Given the description of an element on the screen output the (x, y) to click on. 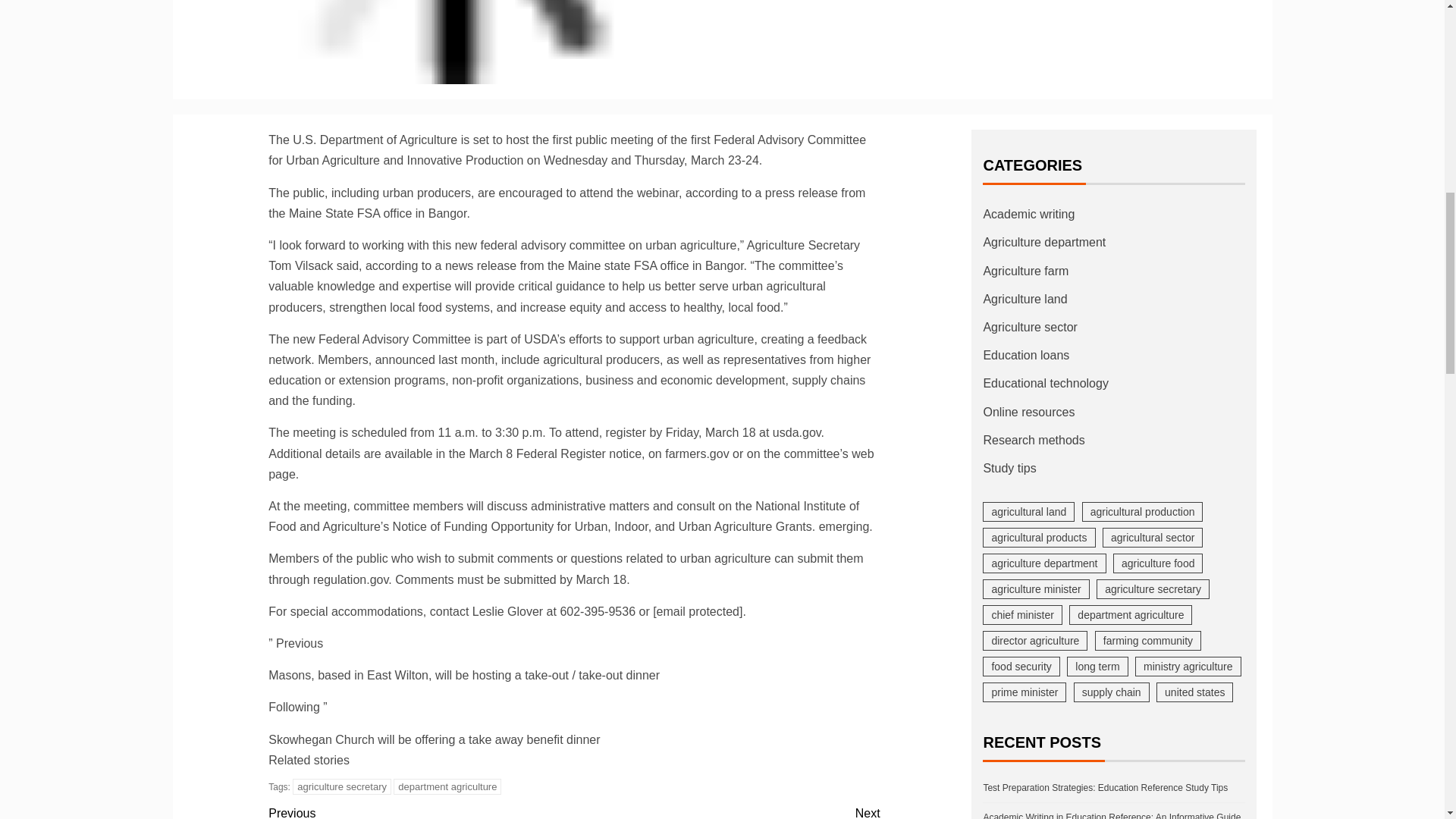
department agriculture (446, 786)
agriculture secretary (341, 786)
